Given the description of an element on the screen output the (x, y) to click on. 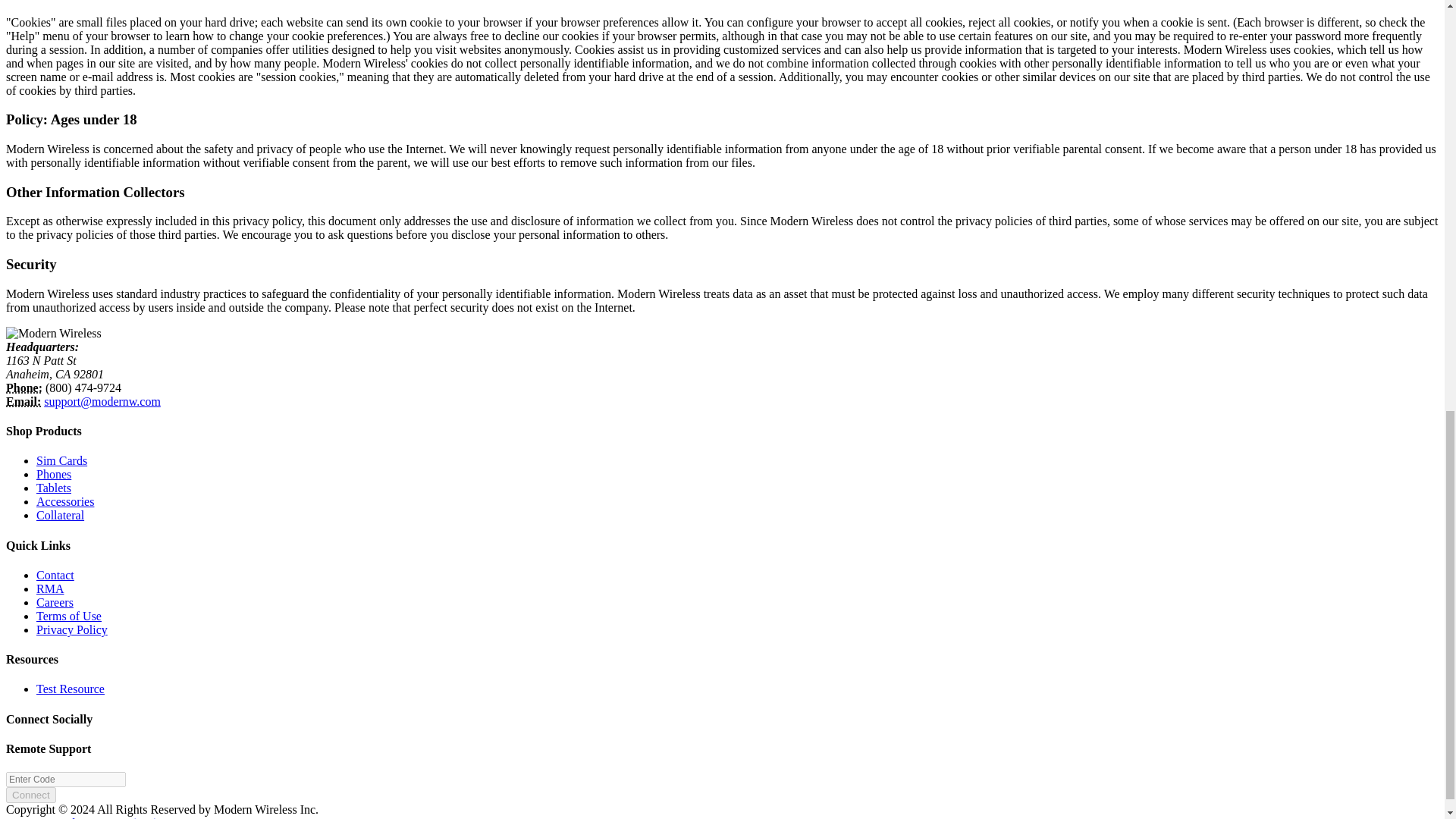
Phones (53, 473)
Test Resource (70, 688)
Test Resource (70, 688)
Privacy Policy (71, 629)
Email Address (22, 400)
Collateral (60, 514)
Contact (55, 574)
Accessories (65, 501)
Terms of Use (68, 615)
RMA (50, 588)
Tablets (53, 487)
Phone Number (23, 387)
Careers (55, 602)
Connect (30, 795)
Sim Cards (61, 460)
